Given the description of an element on the screen output the (x, y) to click on. 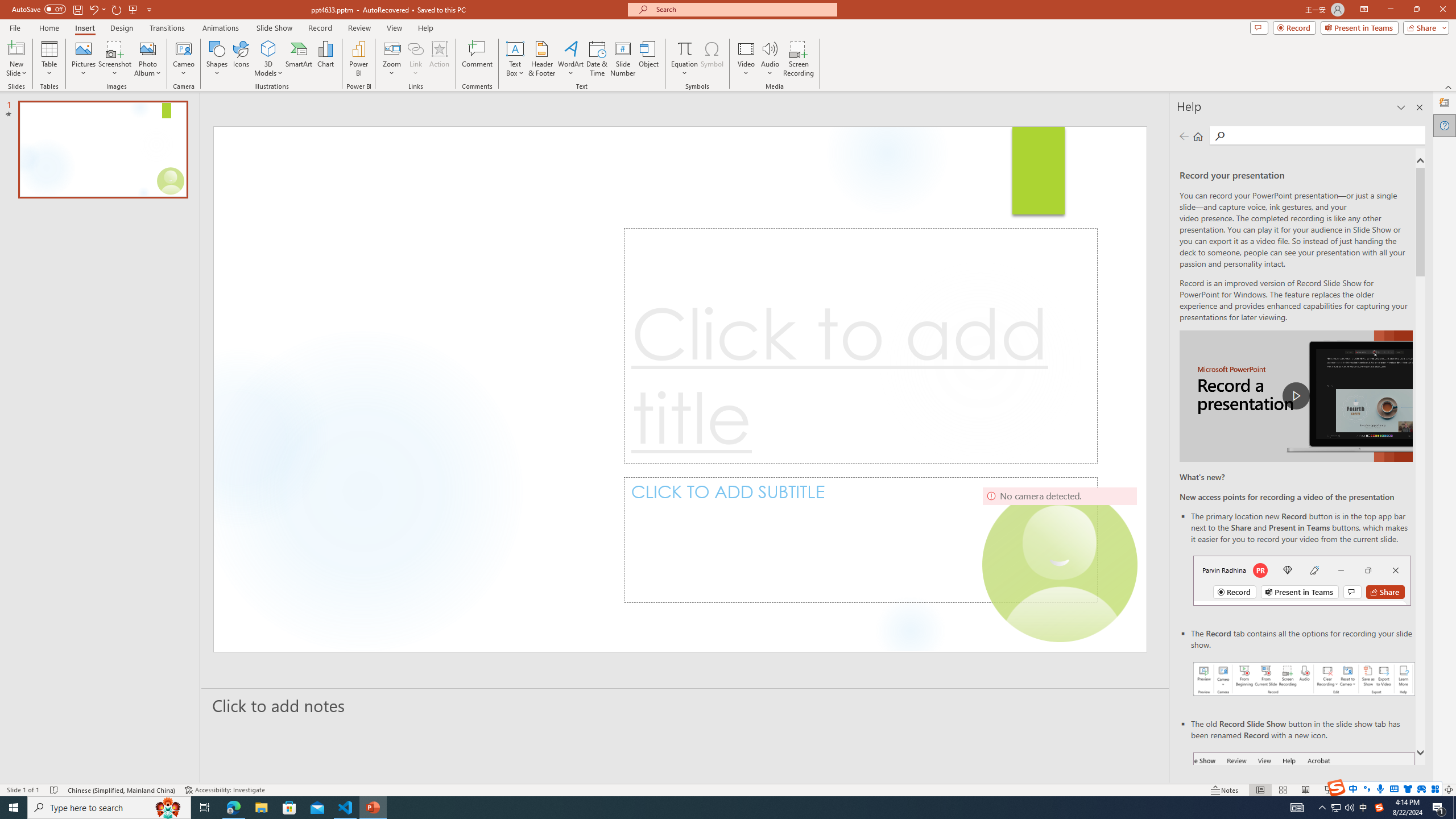
Table (49, 58)
Equation (683, 58)
Date & Time... (596, 58)
Chart... (325, 58)
3D Models (268, 58)
